Given the description of an element on the screen output the (x, y) to click on. 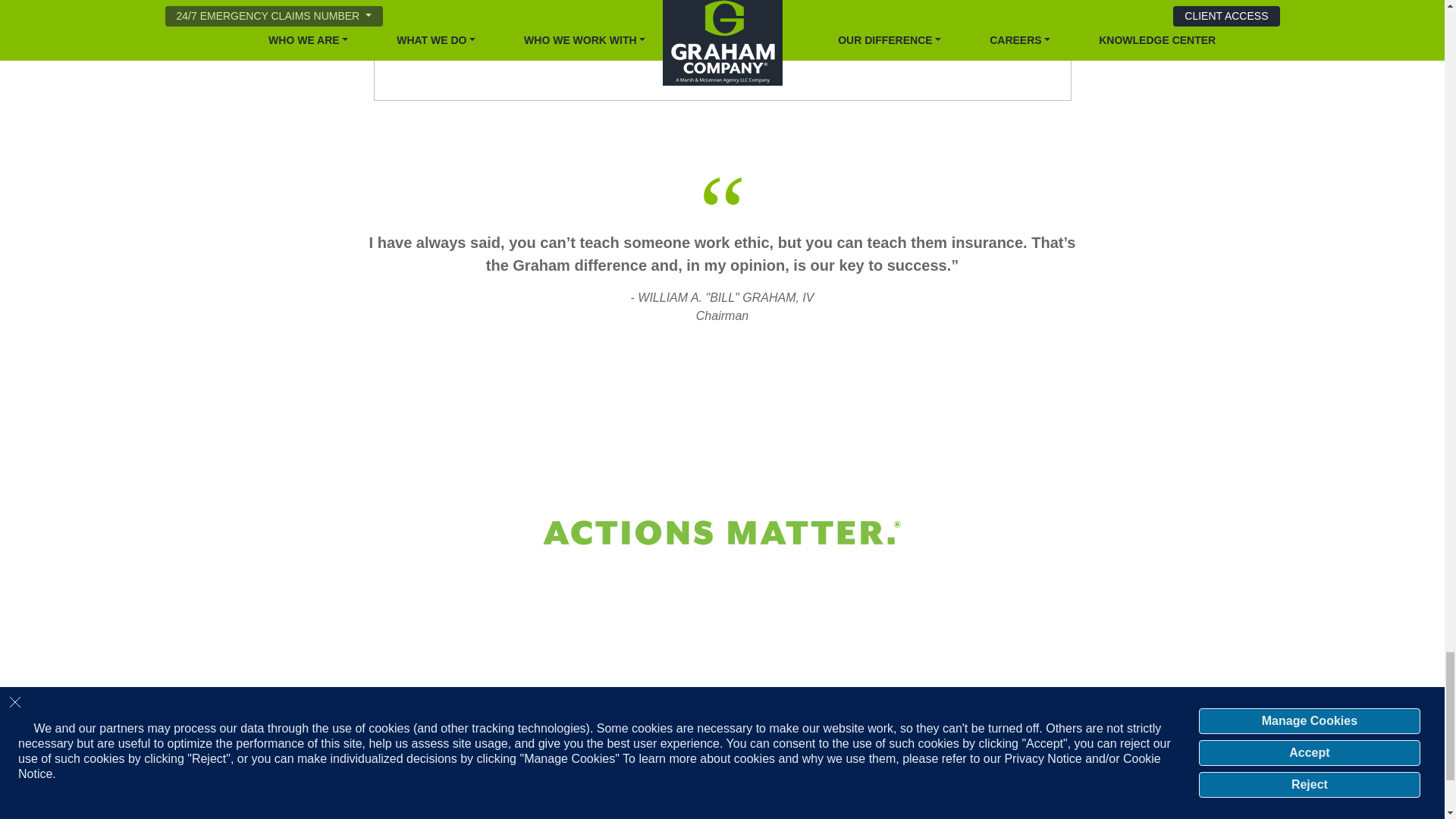
Twitter (1062, 795)
LinkedIn (1077, 795)
Instagram (1091, 795)
Facebook (1107, 795)
Youtube (1122, 795)
